Given the description of an element on the screen output the (x, y) to click on. 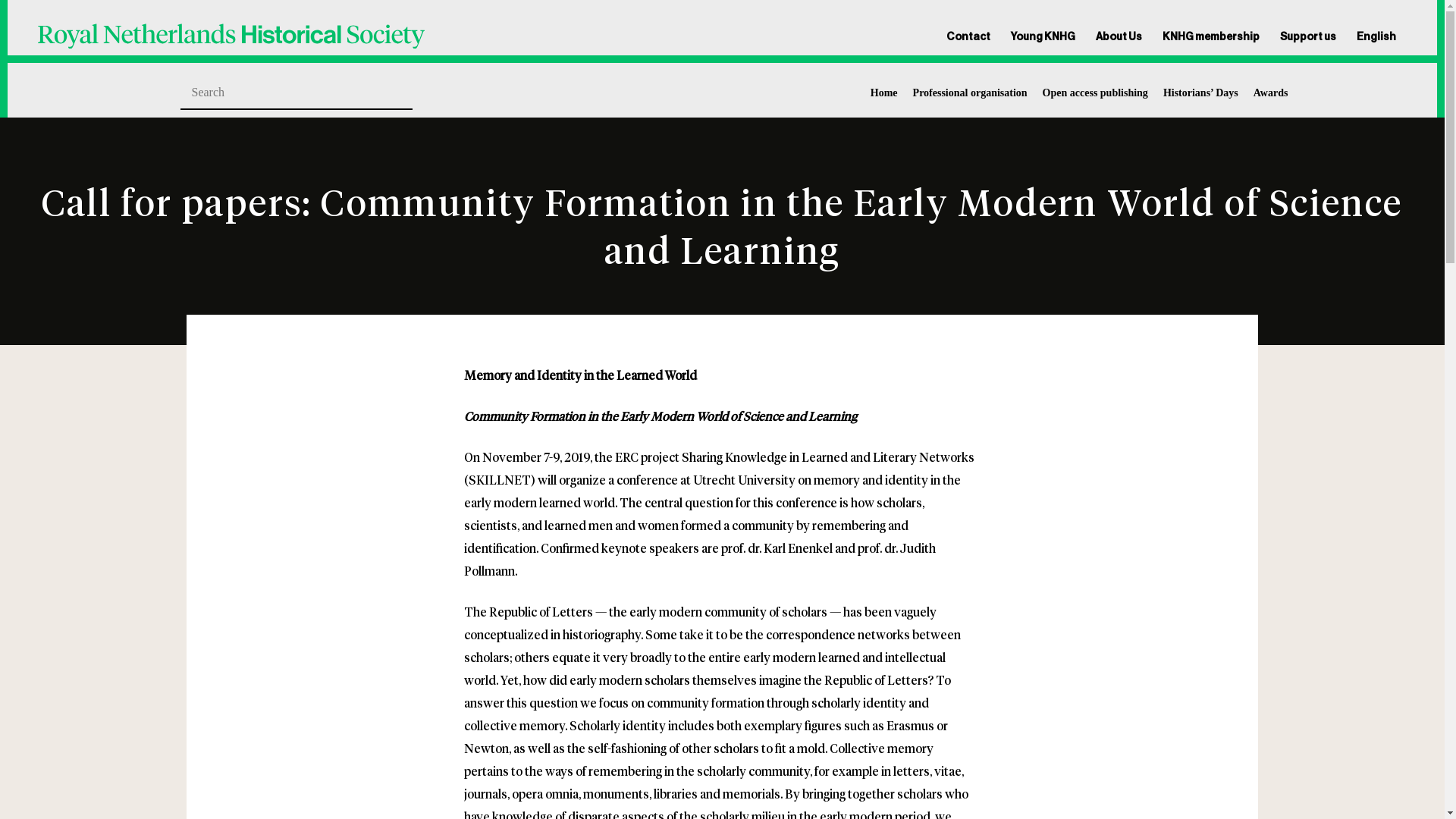
Young KNHG (1042, 35)
English (1372, 35)
KNHG membership (1210, 35)
English (1372, 35)
Contact (972, 35)
About Us (1118, 35)
Awards (1270, 92)
Open access publishing (1095, 92)
Home (884, 92)
Professional organisation (969, 92)
